Given the description of an element on the screen output the (x, y) to click on. 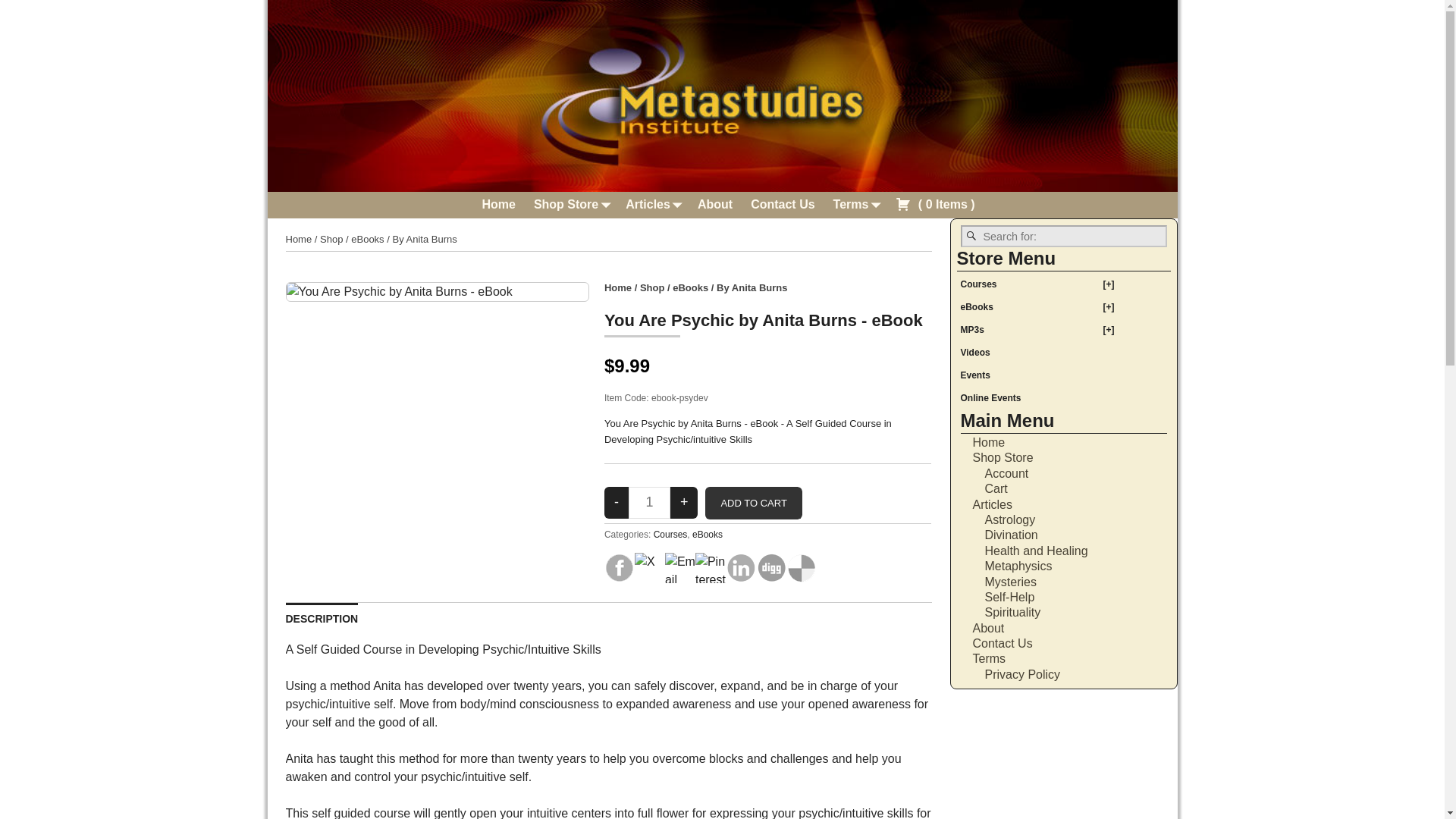
By Anita Burns (424, 238)
By Anita Burns (751, 287)
Home (298, 238)
About (714, 204)
1 (648, 502)
Terms (855, 204)
Shop (652, 287)
Shop Store (569, 204)
Home (617, 287)
eBooks (707, 534)
- (616, 502)
Articles (651, 204)
Courses (670, 534)
eBooks (367, 238)
ADD TO CART (753, 503)
